Given the description of an element on the screen output the (x, y) to click on. 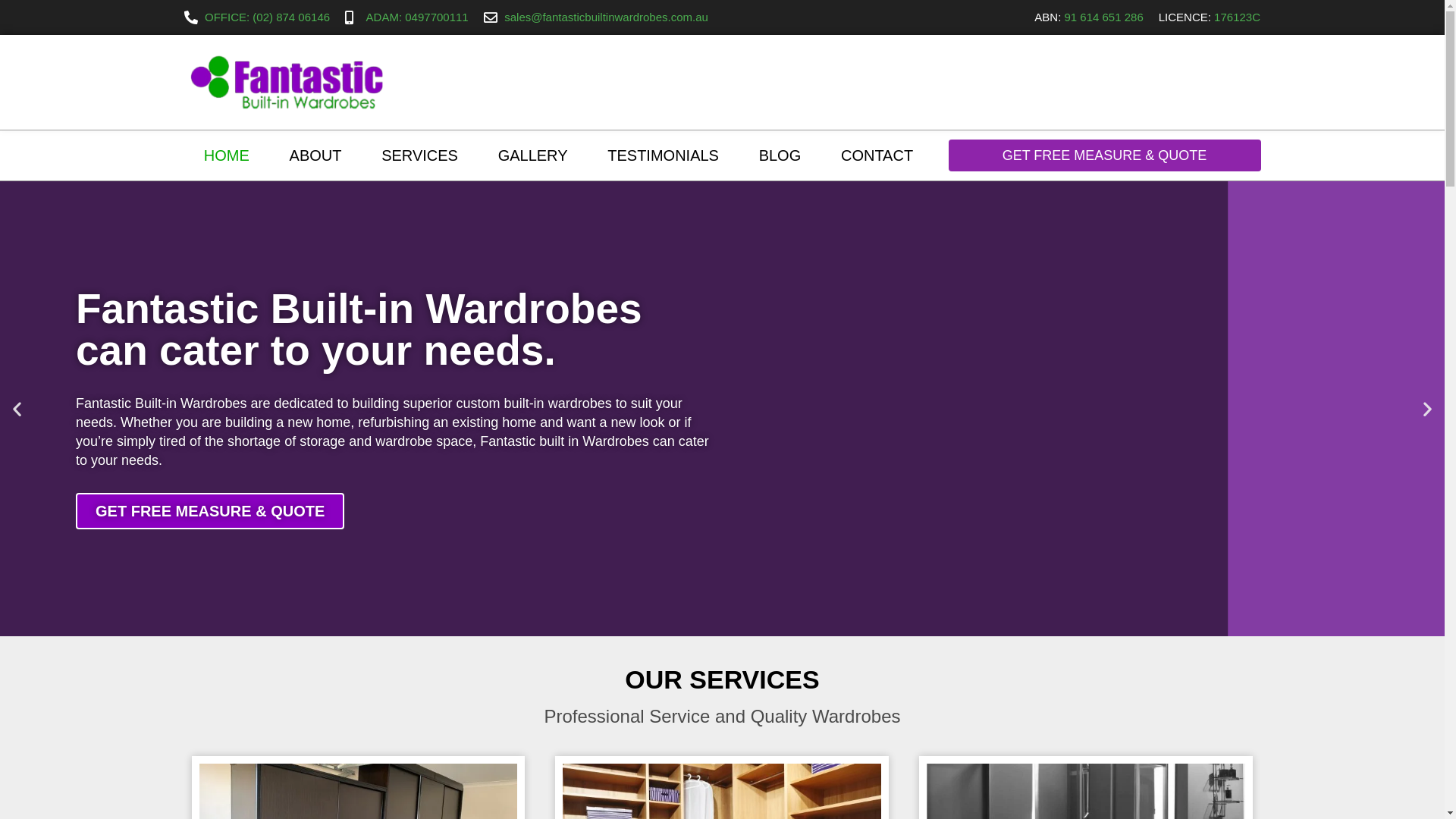
TESTIMONIALS Element type: text (662, 155)
GALLERY Element type: text (532, 155)
GET FREE MEASURE & QUOTE Element type: text (1103, 155)
CONTACT Element type: text (877, 155)
ABOUT Element type: text (315, 155)
BLOG Element type: text (779, 155)
sales@fantasticbuiltinwardrobes.com.au Element type: text (595, 17)
ADAM: 0497700111 Element type: text (406, 17)
SERVICES Element type: text (419, 155)
OFFICE: (02) 874 06146 Element type: text (256, 17)
HOME Element type: text (226, 155)
fantastic-built-in-wardrobes Element type: hover (284, 82)
